Given the description of an element on the screen output the (x, y) to click on. 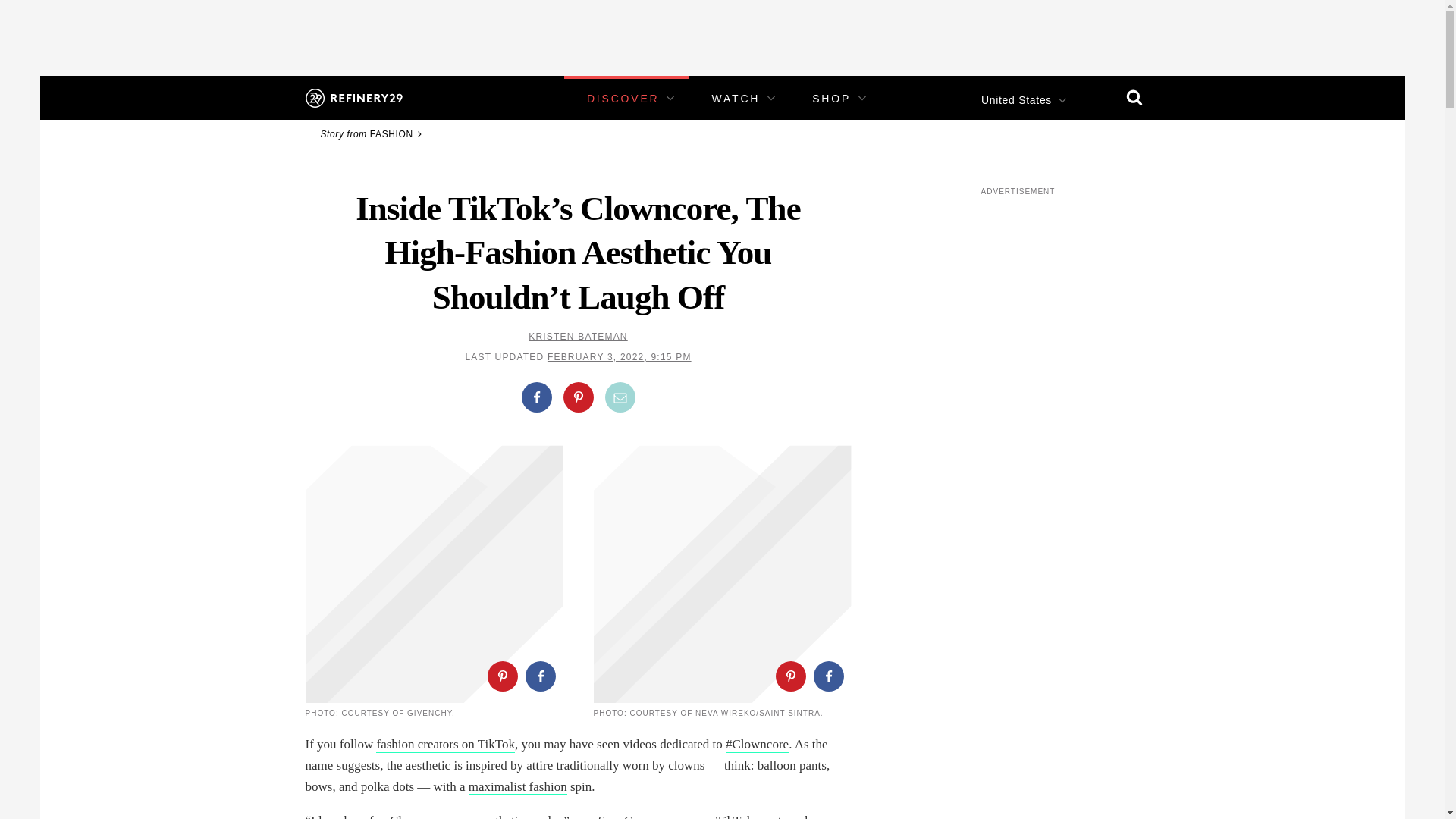
DISCOVER (622, 98)
fashion creators on TikTok (445, 744)
KRISTEN BATEMAN (577, 336)
maximalist fashion (517, 787)
SHOP (831, 98)
Story from FASHION (373, 133)
Share on Pinterest (577, 397)
Refinery29 (352, 97)
Share on Pinterest (501, 675)
WATCH (735, 98)
Sara Camposarcone (649, 816)
FEBRUARY 3, 2022, 9:15 PM (619, 357)
Share by Email (619, 397)
Share on Pinterest (789, 675)
